Given the description of an element on the screen output the (x, y) to click on. 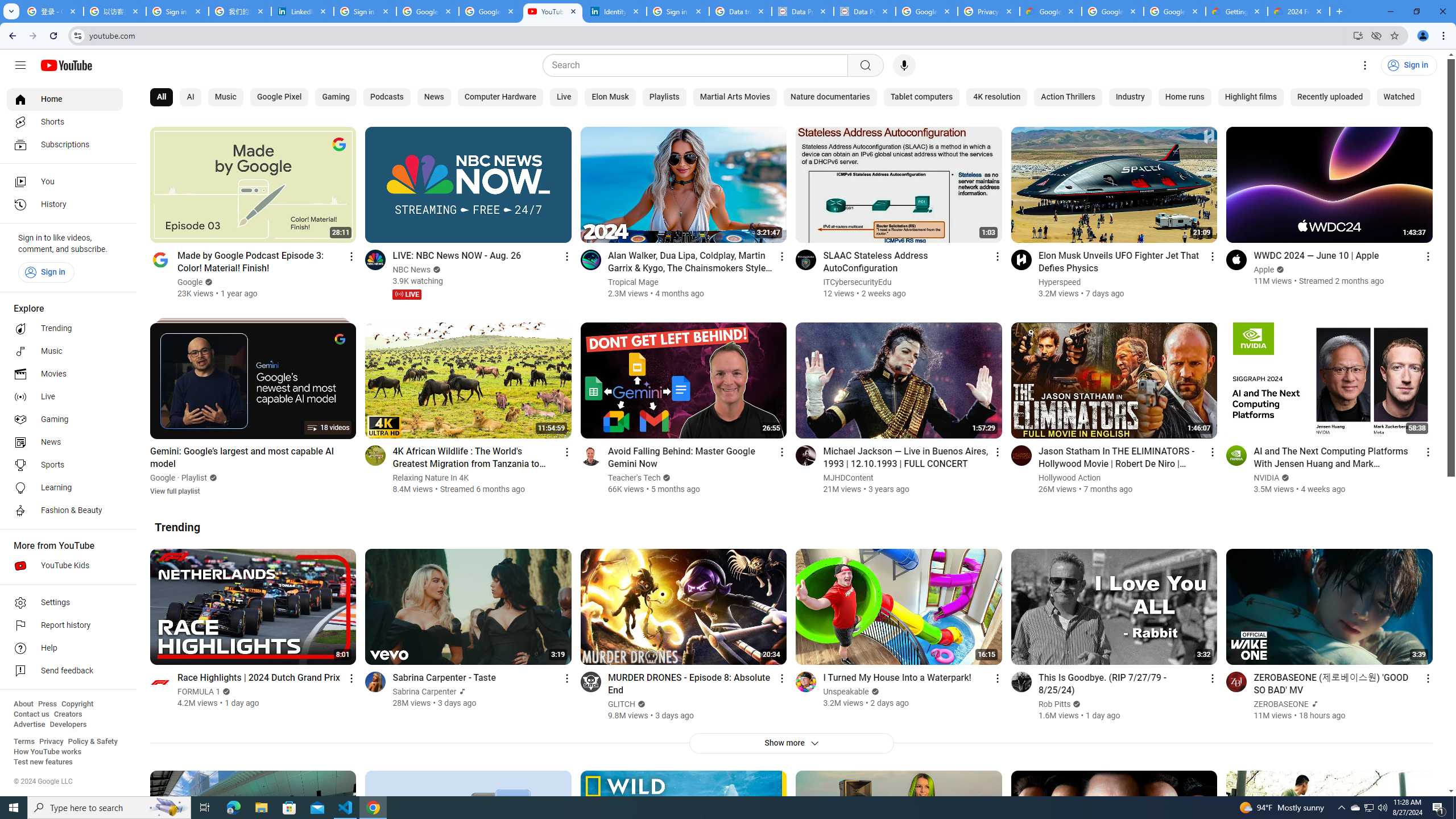
Nature documentaries (829, 97)
LIVE (406, 294)
NVIDIA (1266, 477)
Sabrina Carpenter (425, 691)
Movies (64, 373)
4K resolution (996, 97)
About (23, 703)
YouTube Home (66, 65)
FORMULA 1 (199, 691)
All (161, 97)
